Given the description of an element on the screen output the (x, y) to click on. 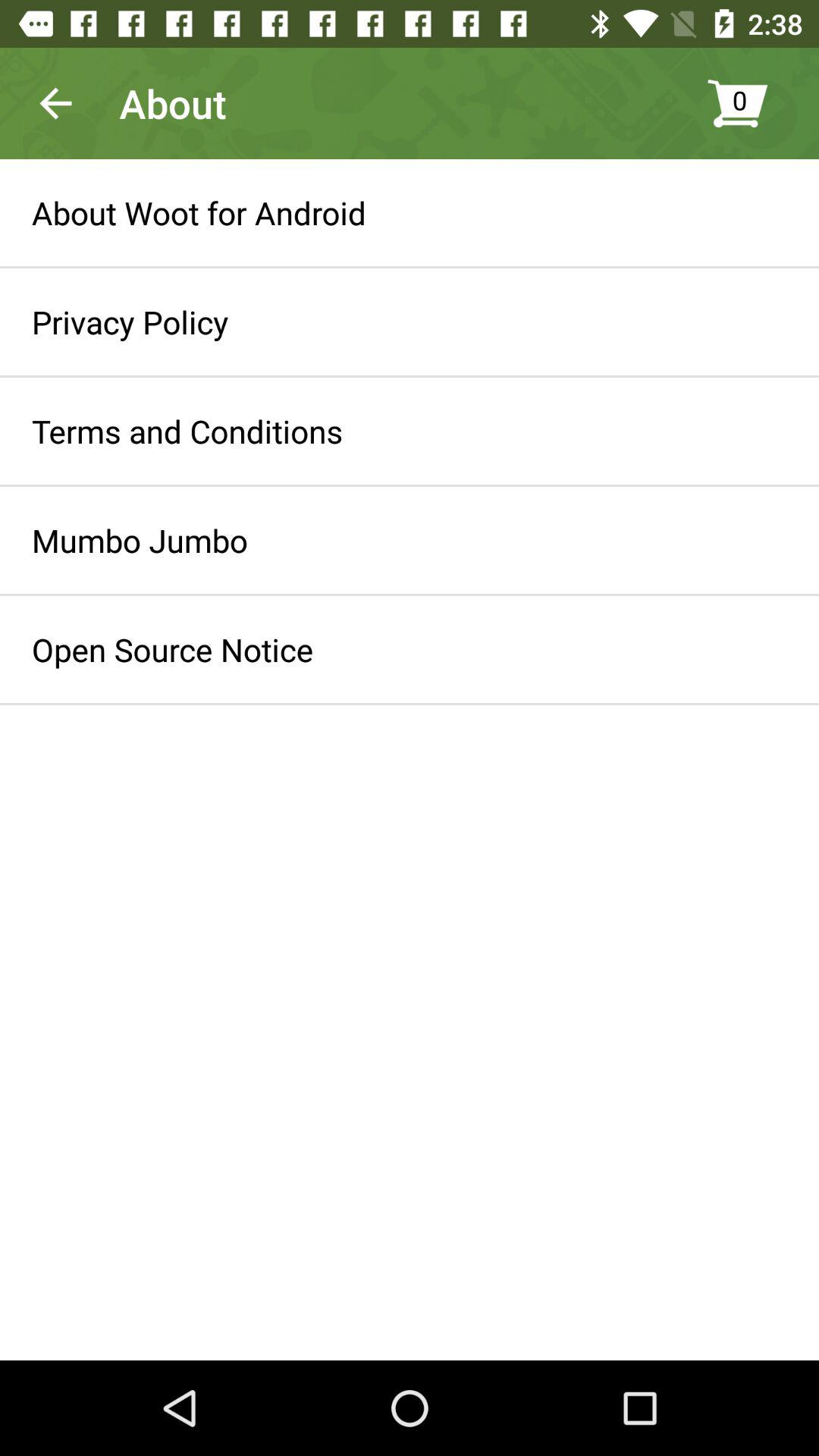
tap app next to the about app (55, 103)
